Given the description of an element on the screen output the (x, y) to click on. 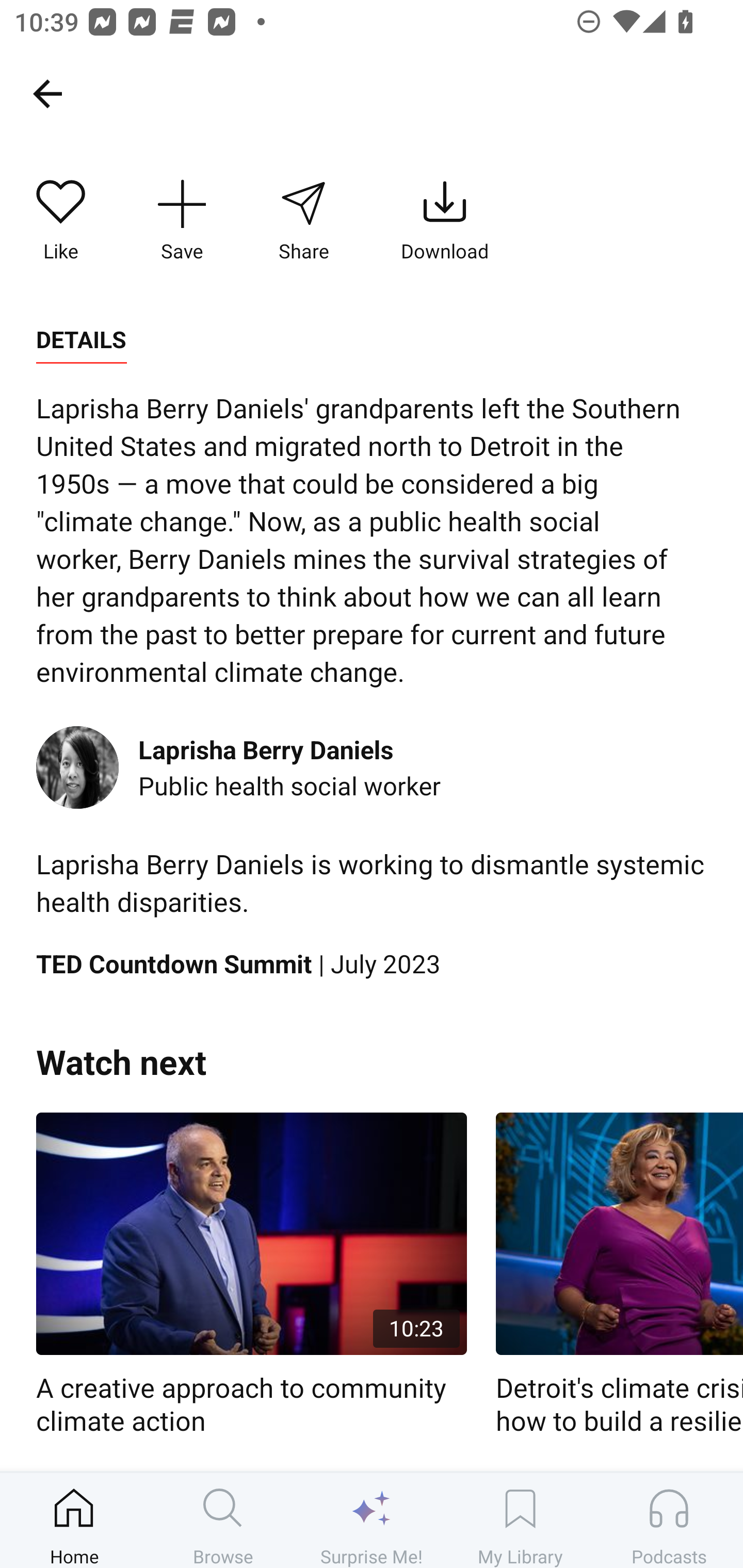
Home, back (47, 92)
Like (60, 220)
Save (181, 220)
Share (302, 220)
Download (444, 220)
DETAILS (80, 339)
Home (74, 1520)
Browse (222, 1520)
Surprise Me! (371, 1520)
My Library (519, 1520)
Podcasts (668, 1520)
